Given the description of an element on the screen output the (x, y) to click on. 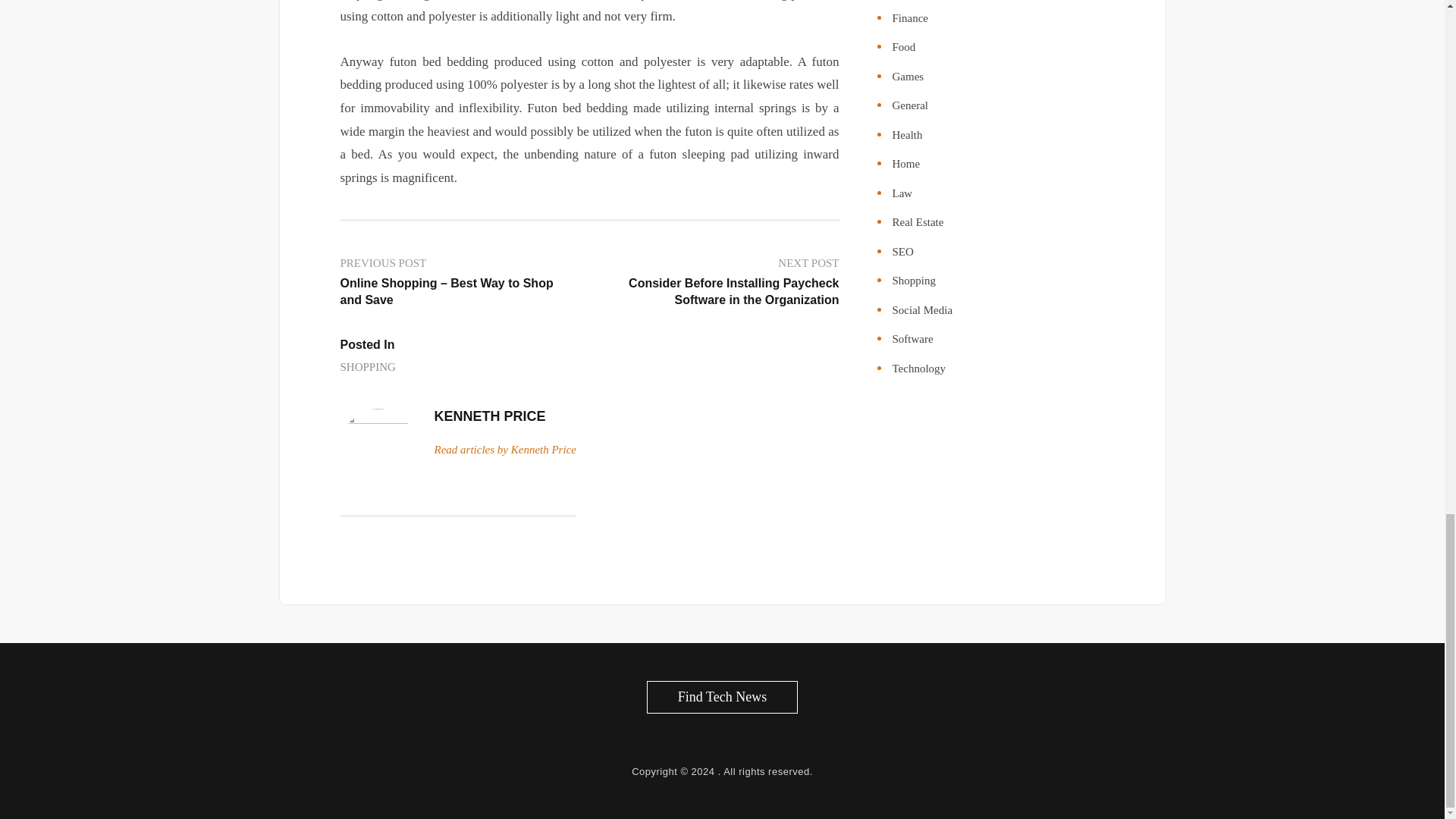
Shopping (913, 280)
Home (905, 163)
Games (907, 76)
Health (906, 134)
Food (903, 46)
Read articles by Kenneth Price (504, 449)
Finance (909, 18)
Law (901, 193)
Social Media (921, 309)
General (909, 105)
Real Estate (917, 222)
Technology (917, 368)
Software (912, 338)
SHOPPING (366, 367)
